Given the description of an element on the screen output the (x, y) to click on. 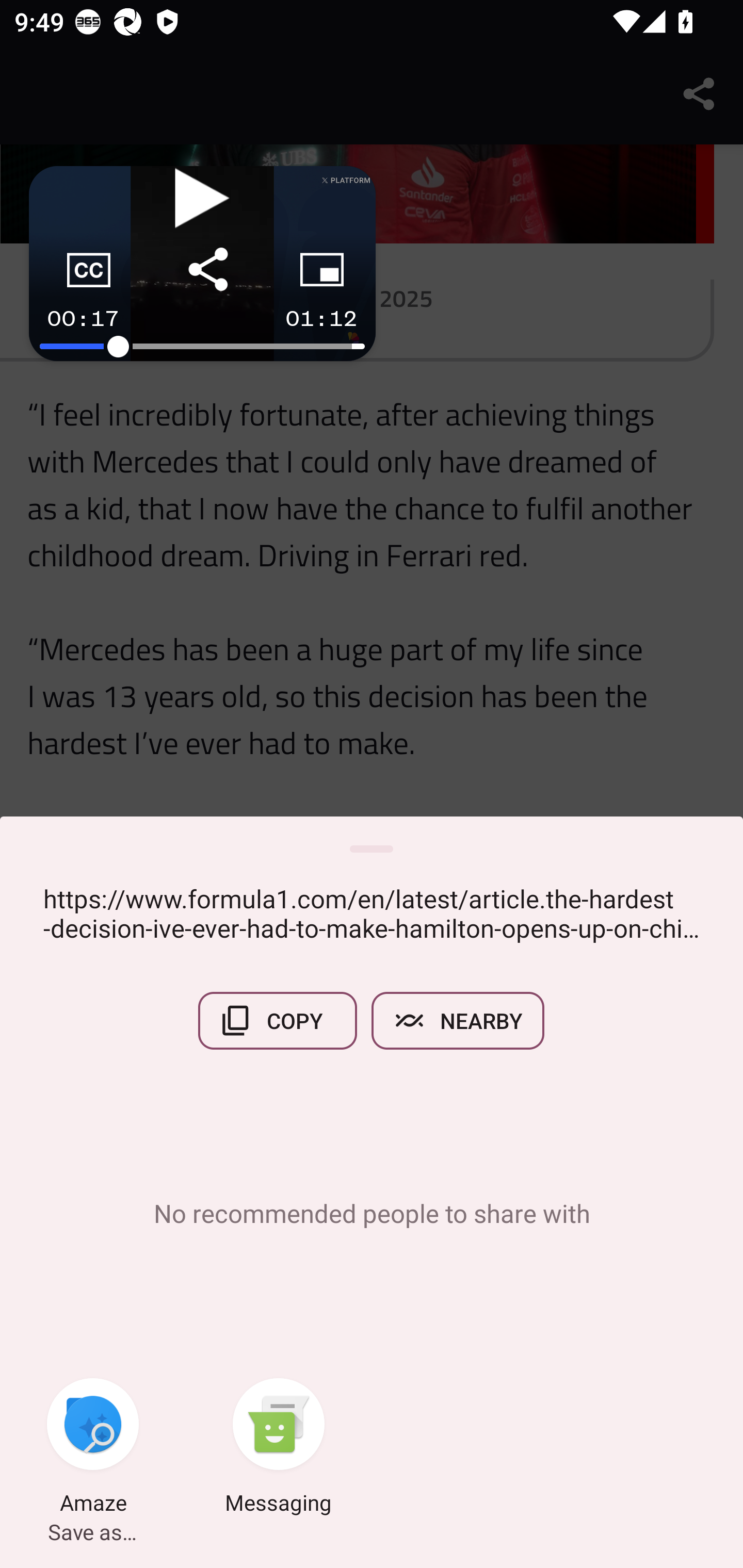
COPY (277, 1020)
NEARBY (457, 1020)
Amaze Save as… (92, 1448)
Messaging (278, 1448)
